Given the description of an element on the screen output the (x, y) to click on. 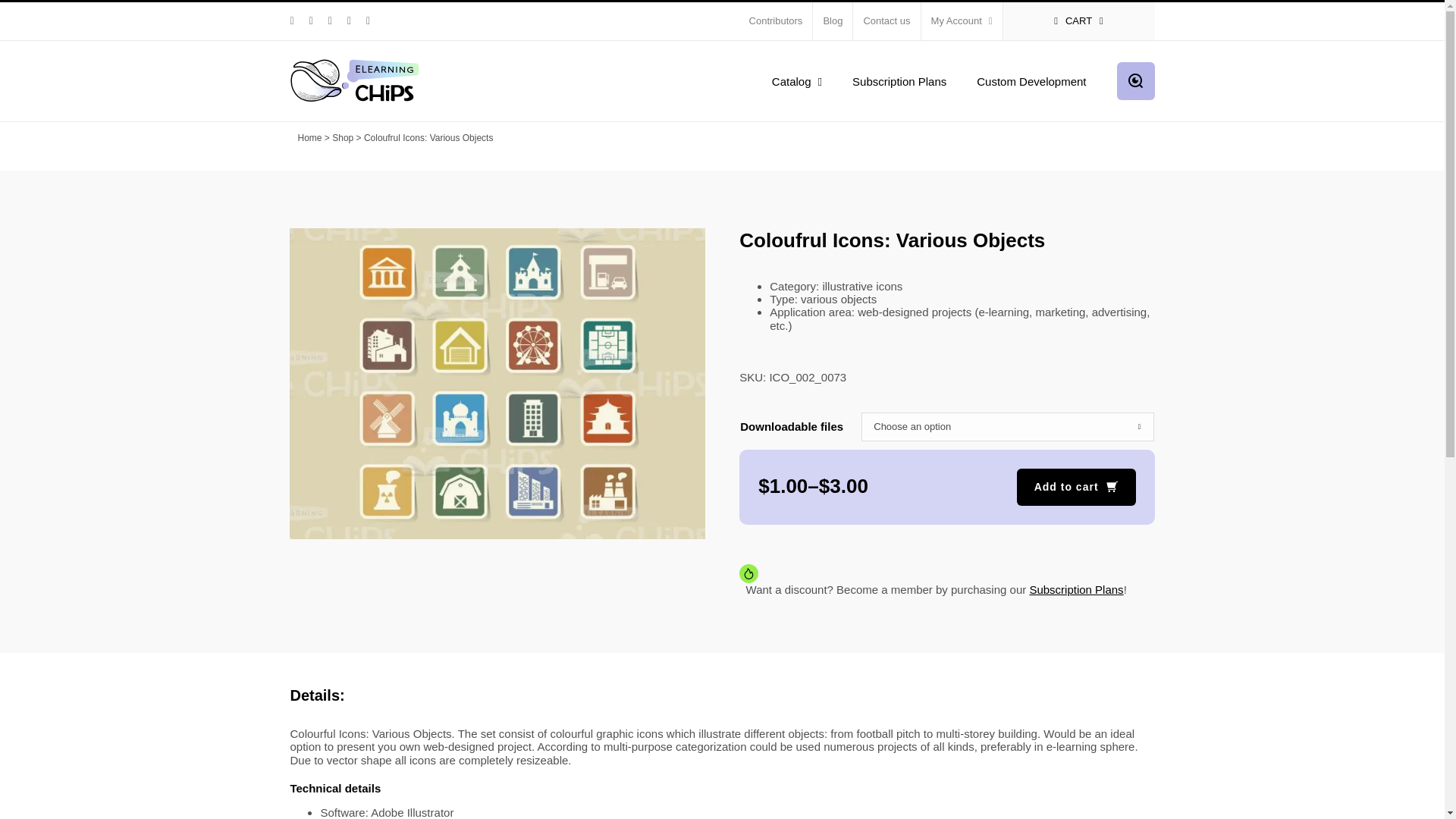
Contributors (775, 21)
Coloufrul Icons: Various Objects-0 (496, 383)
Search (1135, 80)
My Account (962, 21)
Contact us (886, 21)
Custom Development (1031, 79)
Blog (831, 21)
Subscription Plans (898, 79)
Log In (1025, 165)
CART (1078, 21)
